Given the description of an element on the screen output the (x, y) to click on. 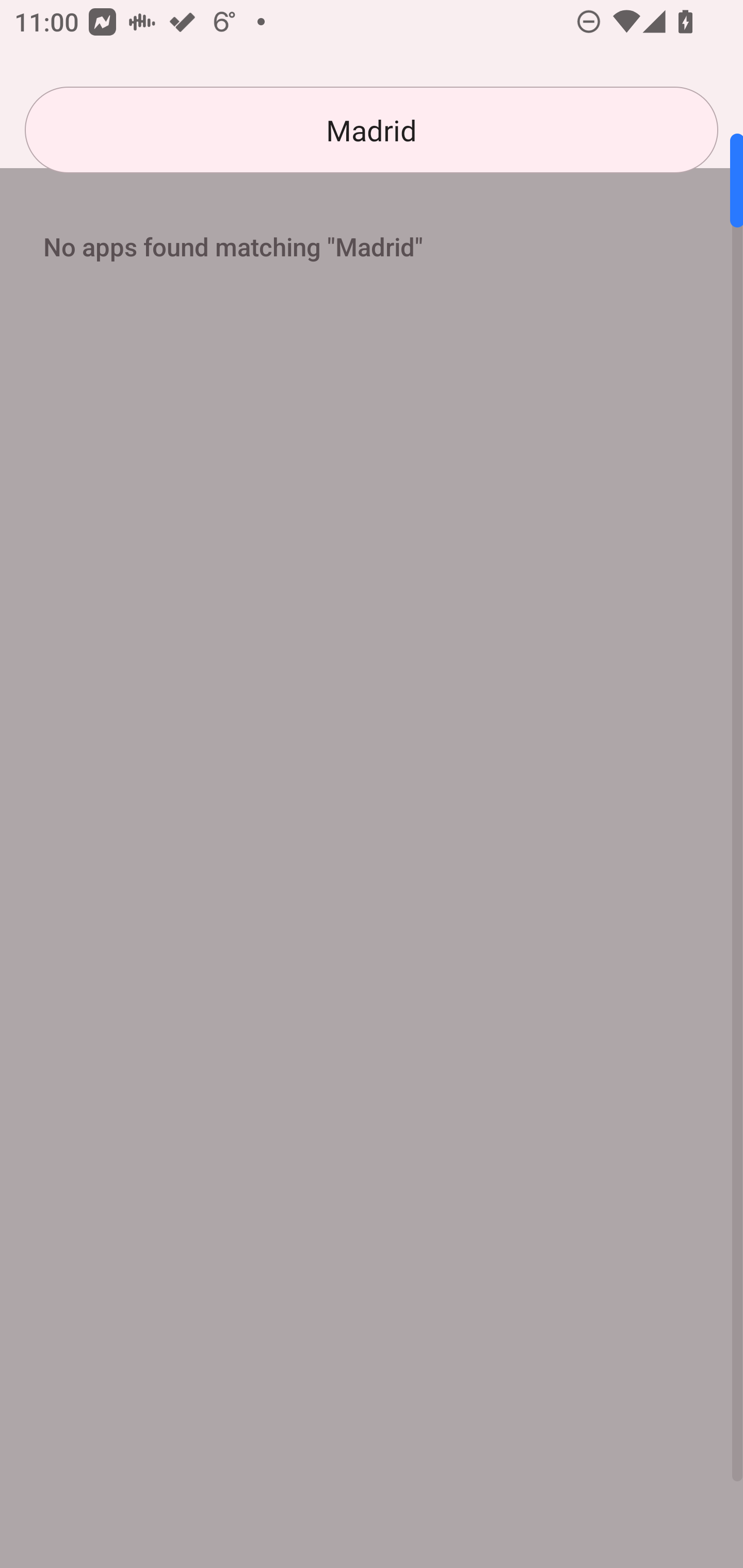
Madrid (371, 130)
